Given the description of an element on the screen output the (x, y) to click on. 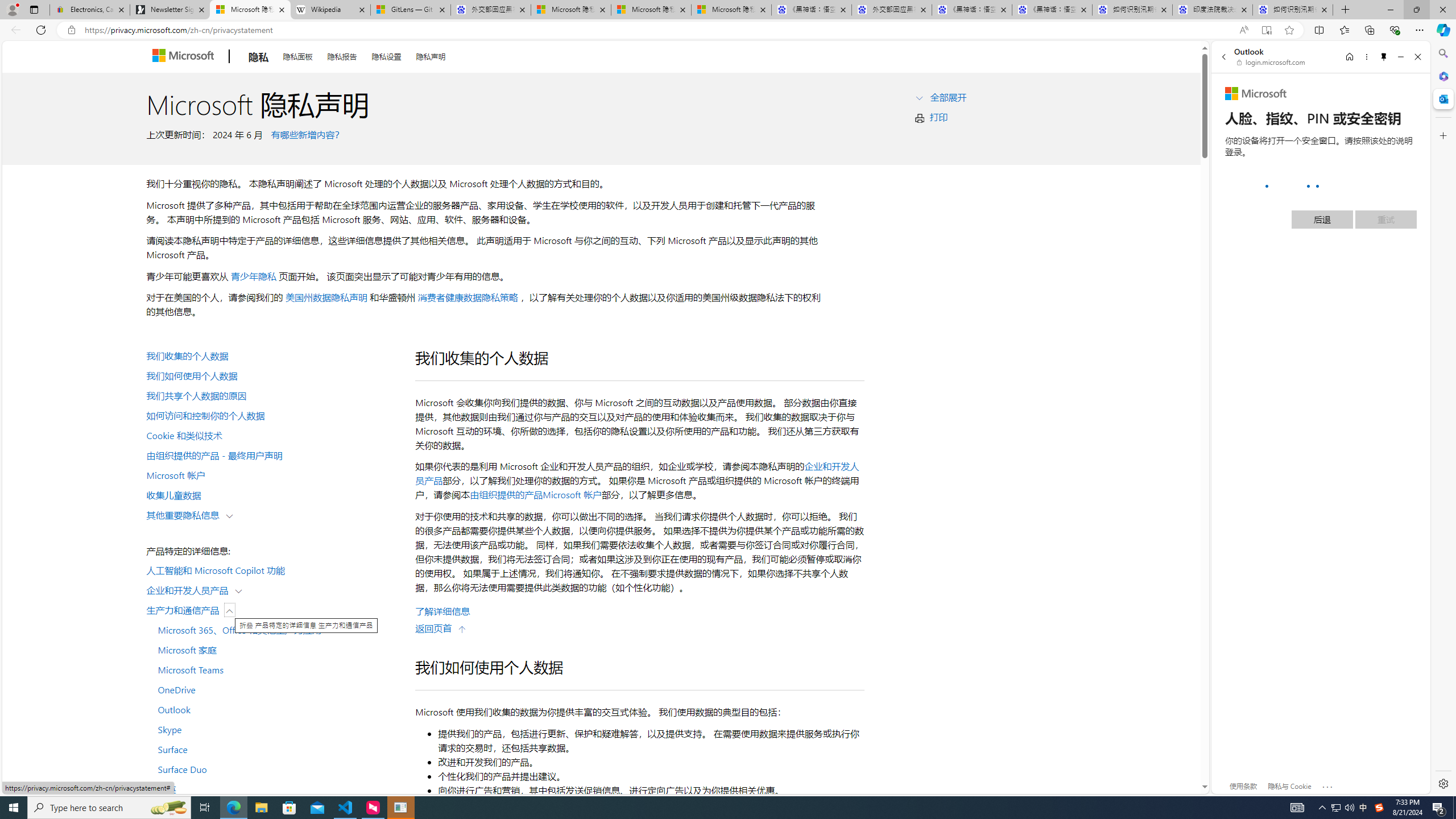
OneDrive (274, 689)
login.microsoft.com (1271, 61)
